Given the description of an element on the screen output the (x, y) to click on. 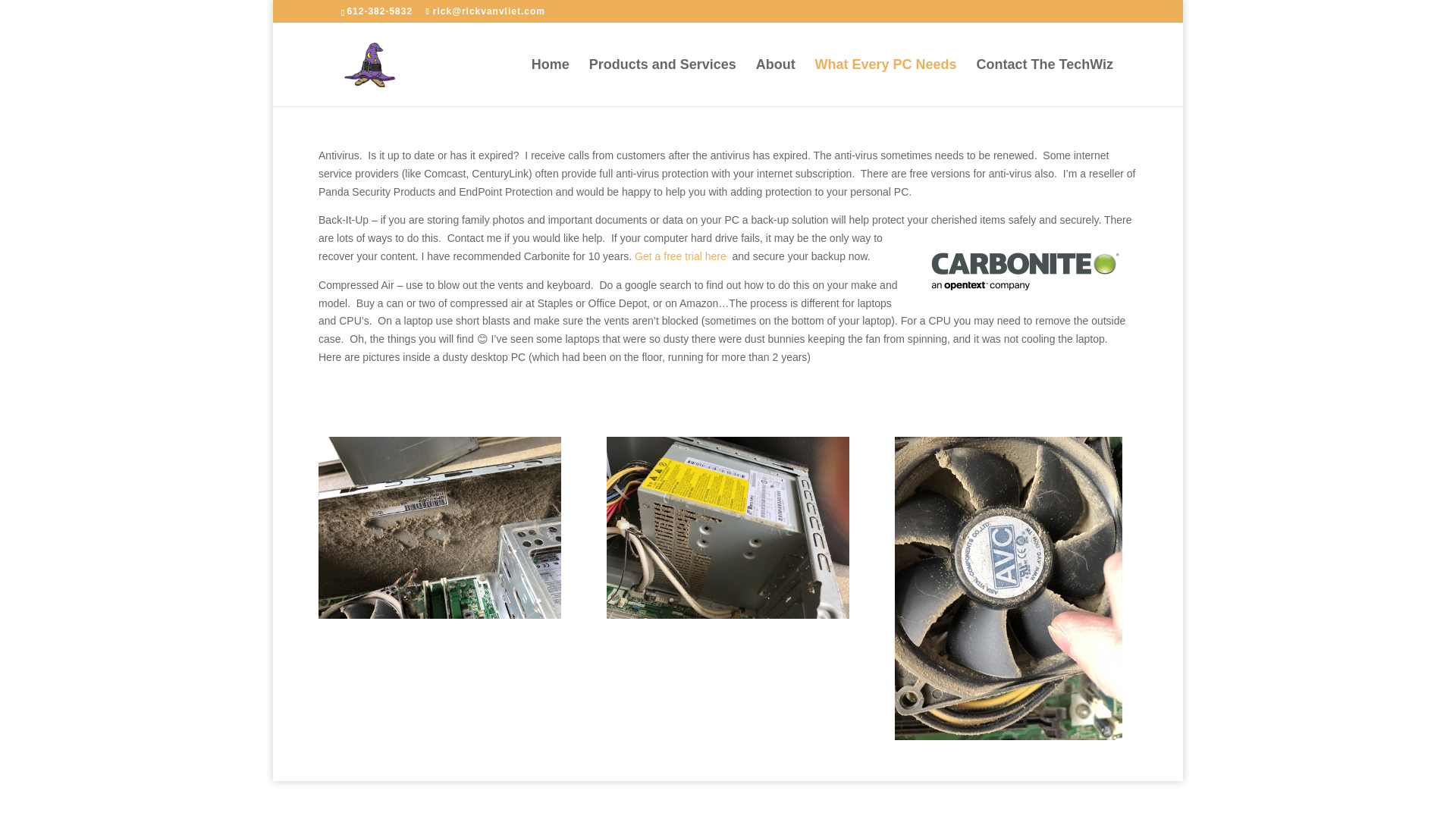
Get a free trial here (680, 256)
Contact The TechWiz (1044, 82)
Products and Services (662, 82)
Dust2 (727, 527)
Dust3 (439, 527)
What Every PC Needs (885, 82)
